Given the description of an element on the screen output the (x, y) to click on. 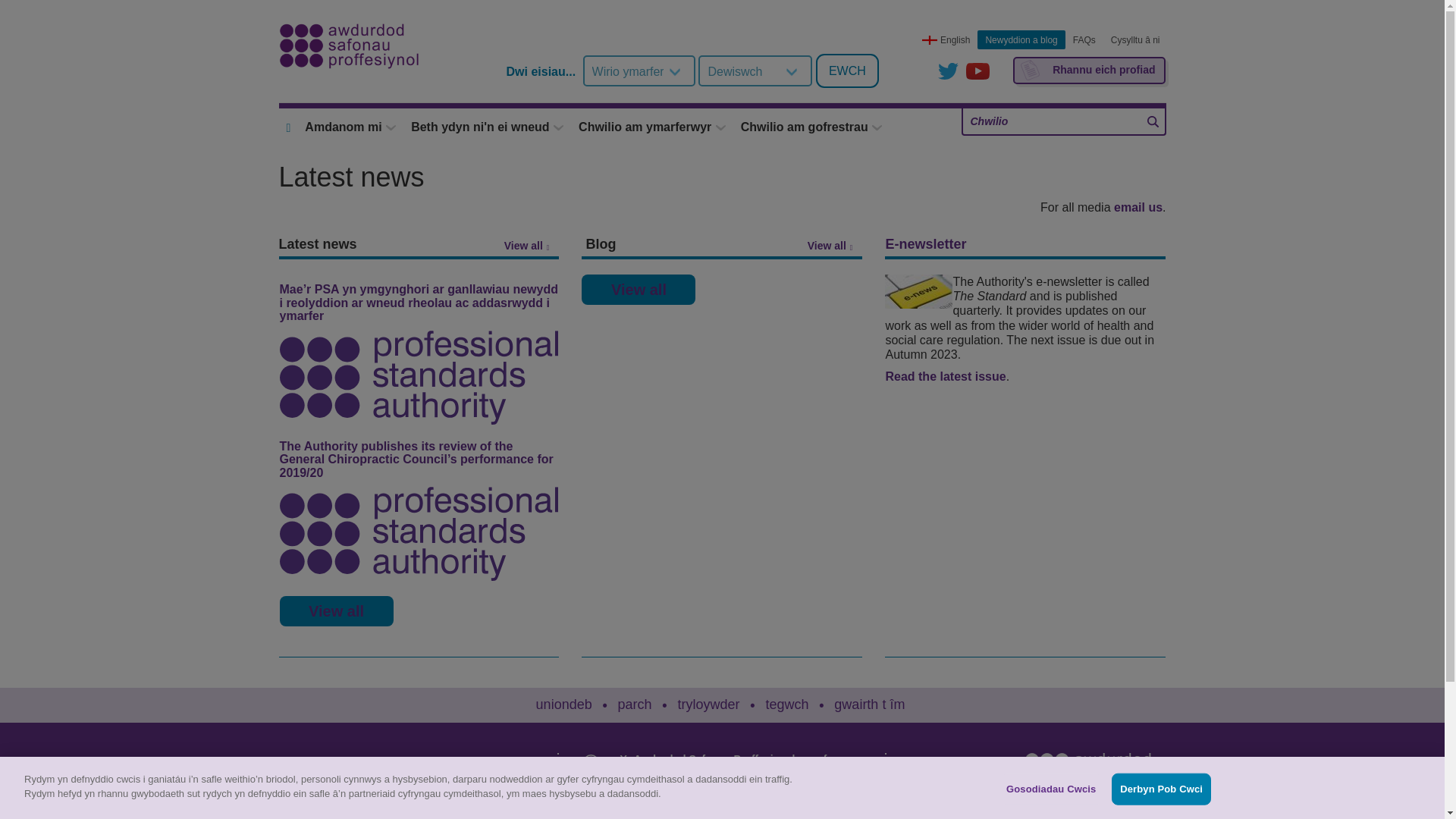
Rhannu eich profiad (1089, 70)
email us (1137, 206)
e-News (918, 291)
Chwilio am gofrestrau (810, 127)
Search (1153, 121)
Read the latest issue (945, 376)
View all (531, 246)
View all (834, 246)
FAQs (1084, 39)
Newyddion a blog (1020, 39)
